Given the description of an element on the screen output the (x, y) to click on. 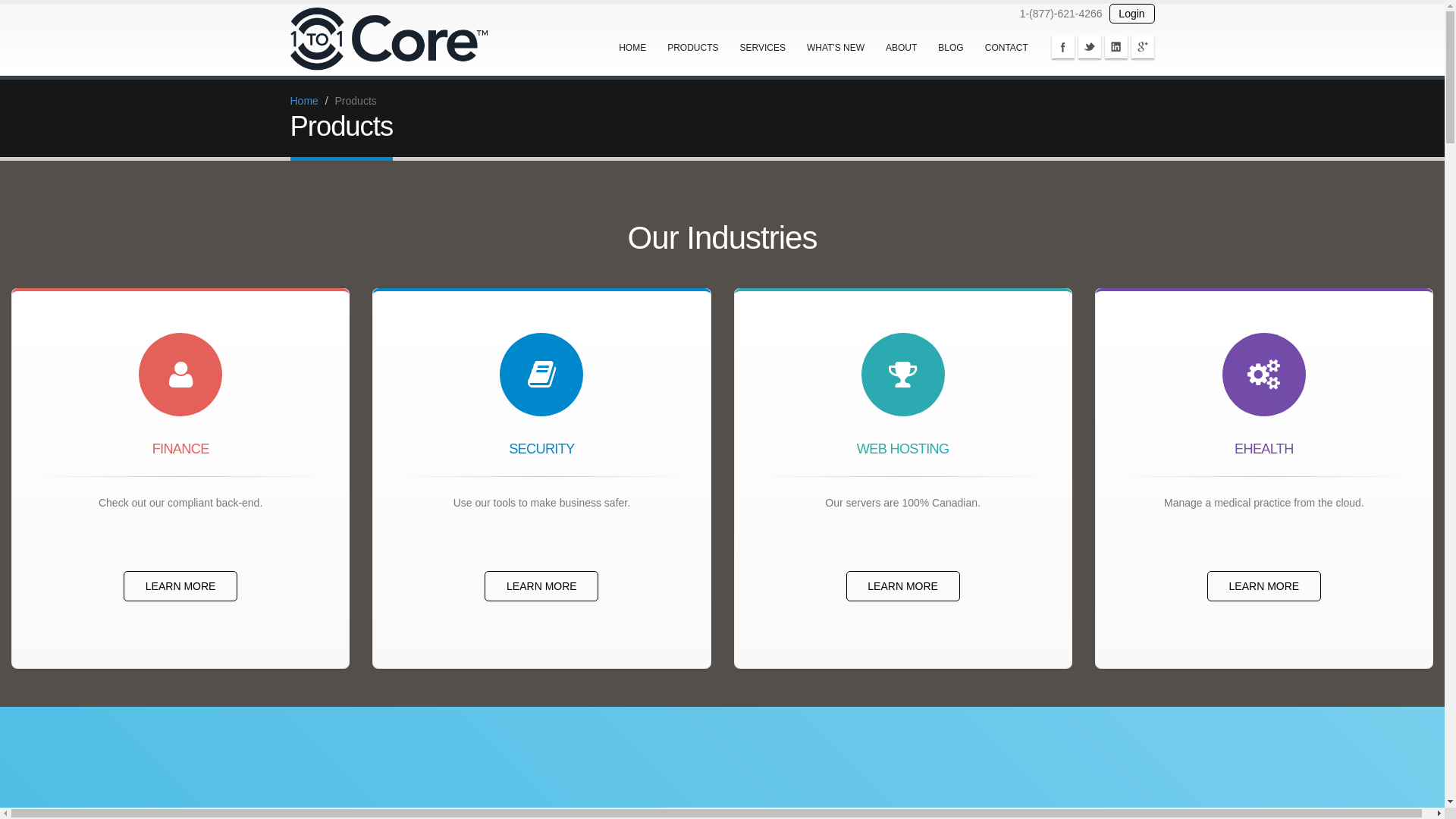
Login Element type: text (1131, 13)
Linkedin Element type: text (1115, 46)
LEARN MORE Element type: text (541, 586)
BLOG Element type: text (950, 47)
CONTACT Element type: text (1006, 47)
SERVICES Element type: text (761, 47)
PRODUCTS Element type: text (692, 47)
LEARN MORE Element type: text (903, 586)
HOME Element type: text (631, 47)
Google Element type: text (1142, 46)
ABOUT Element type: text (900, 47)
Facebook Element type: text (1062, 46)
Home Element type: text (303, 100)
Twitter Element type: text (1089, 46)
WHAT'S NEW Element type: text (835, 47)
LEARN MORE Element type: text (180, 586)
LEARN MORE Element type: text (1264, 586)
